Given the description of an element on the screen output the (x, y) to click on. 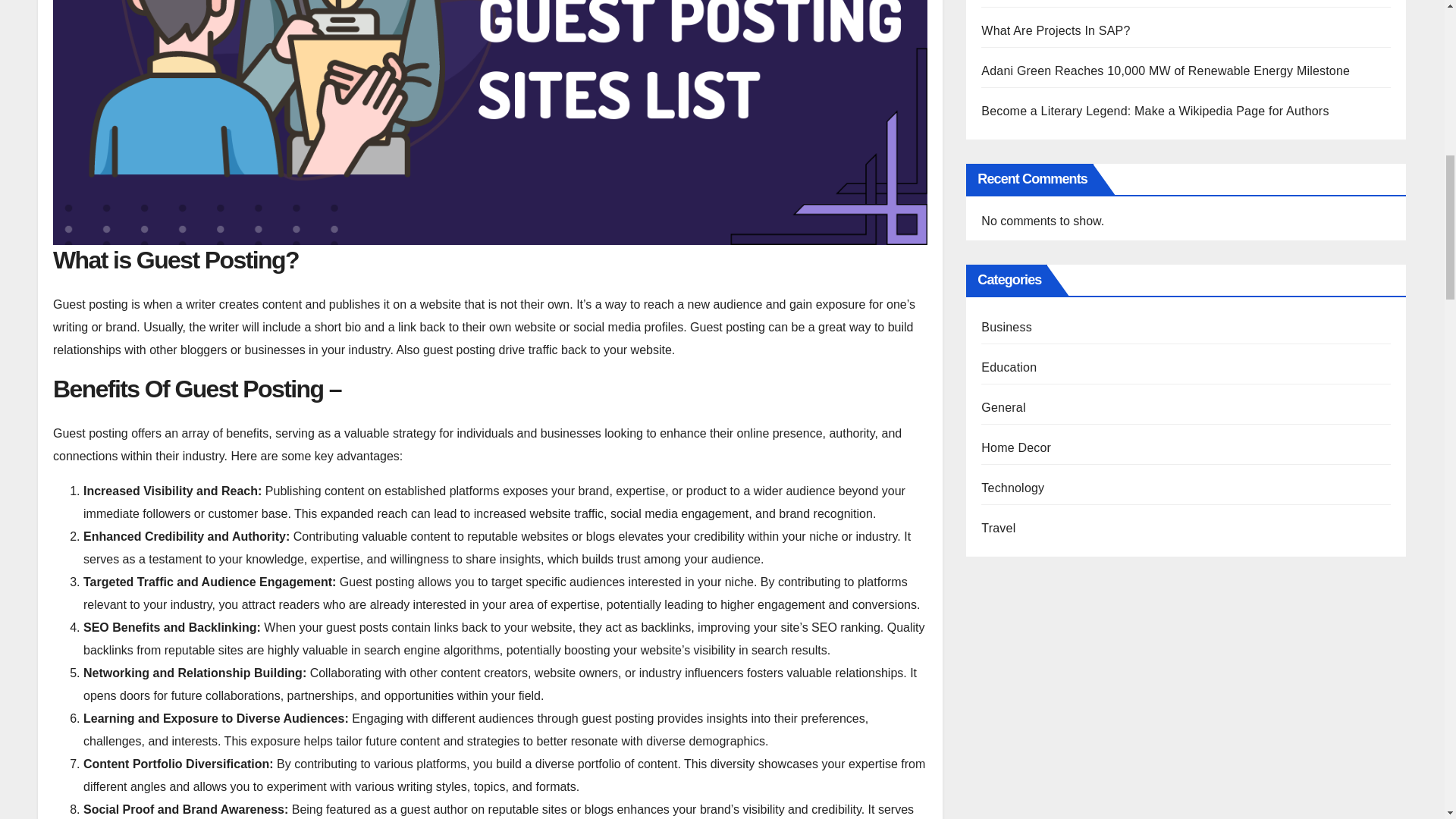
Become a Literary Legend: Make a Wikipedia Page for Authors (1154, 110)
Travel (997, 527)
Home Decor (1016, 447)
What Are Projects In SAP? (1055, 30)
General (1003, 407)
Education (1008, 367)
Business (1006, 327)
Technology (1012, 487)
Adani Green Reaches 10,000 MW of Renewable Energy Milestone (1165, 70)
